Given the description of an element on the screen output the (x, y) to click on. 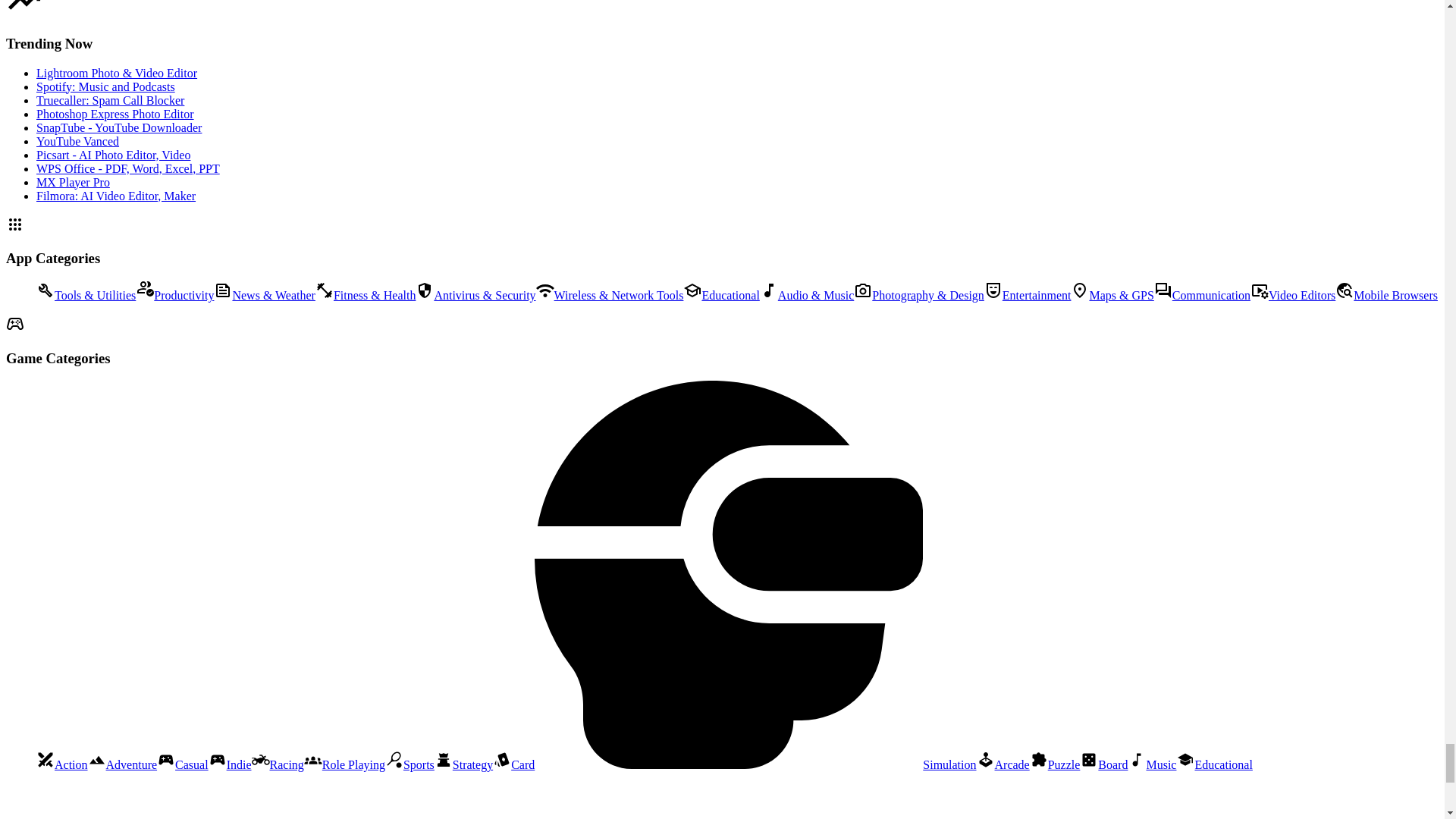
Spotify: Music and Podcasts (105, 86)
